Given the description of an element on the screen output the (x, y) to click on. 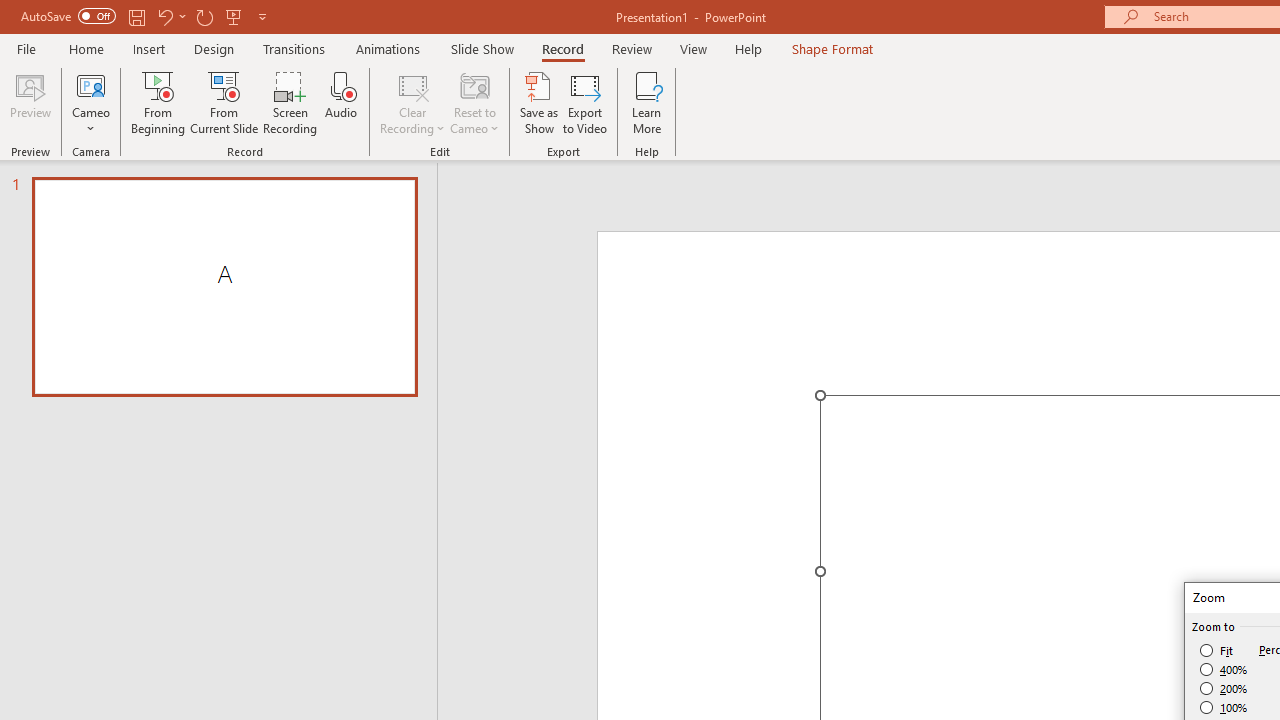
From Beginning... (158, 102)
Shape Format (832, 48)
Save as Show (539, 102)
100% (1224, 707)
Fit (1217, 650)
Screen Recording (290, 102)
Export to Video (585, 102)
Learn More (646, 102)
Audio (341, 102)
